Given the description of an element on the screen output the (x, y) to click on. 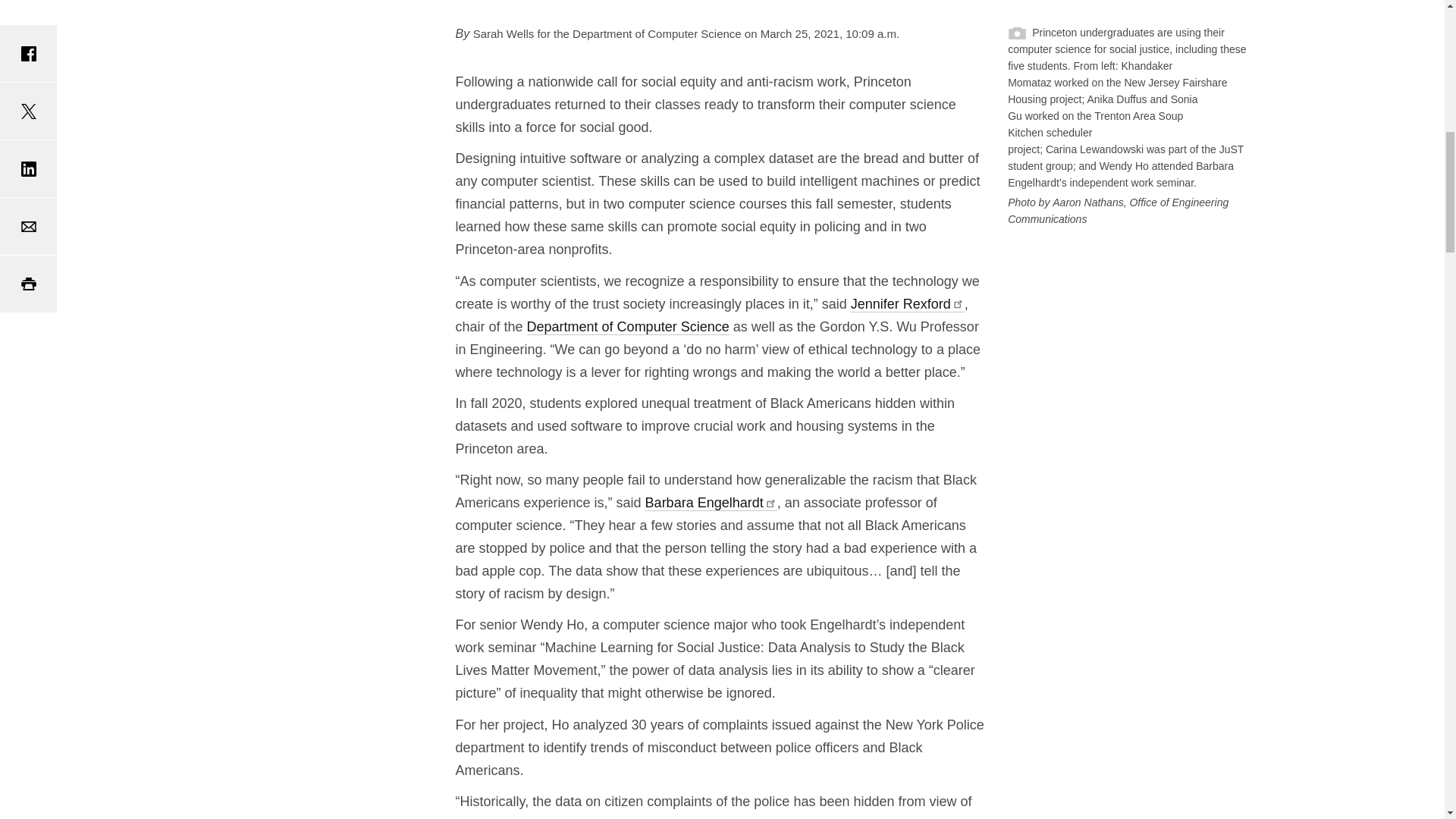
Department of Computer Science (628, 326)
Jennifer Rexford (906, 303)
Print (28, 283)
Share on LinkedIn (28, 168)
Email (28, 226)
Share on Facebook (28, 53)
Barbara Engelhardt (711, 503)
Share on Twitter (28, 110)
